Given the description of an element on the screen output the (x, y) to click on. 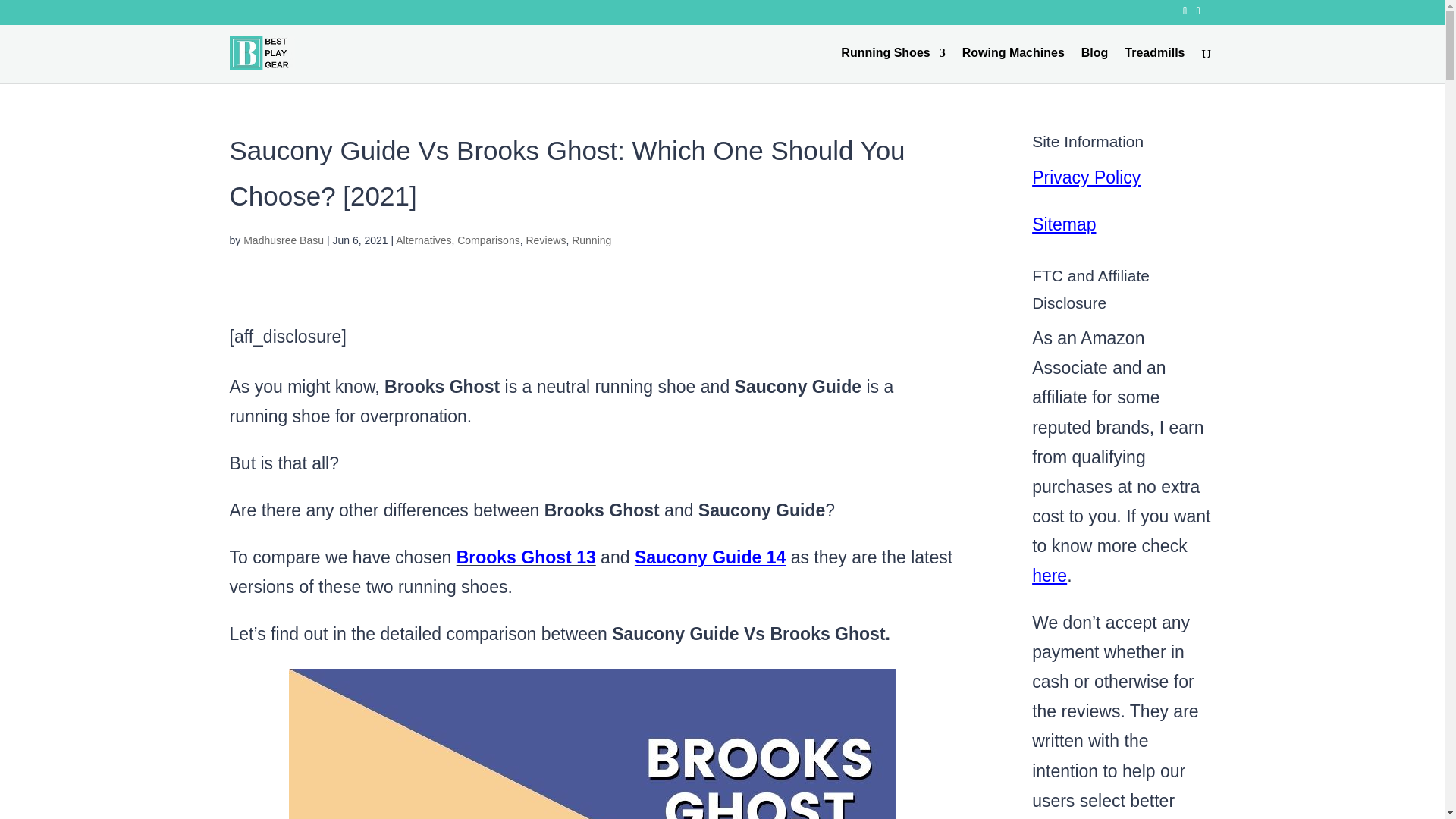
Running Shoes (892, 65)
Posts by Madhusree Basu (283, 240)
Reviews (545, 240)
Running (591, 240)
Brooks Ghost 13 (526, 557)
Rowing Machines (1013, 65)
Comparisons (488, 240)
Alternatives (423, 240)
Saucony Guide Vs Brooks Ghost HI-min (591, 744)
Madhusree Basu (283, 240)
